Given the description of an element on the screen output the (x, y) to click on. 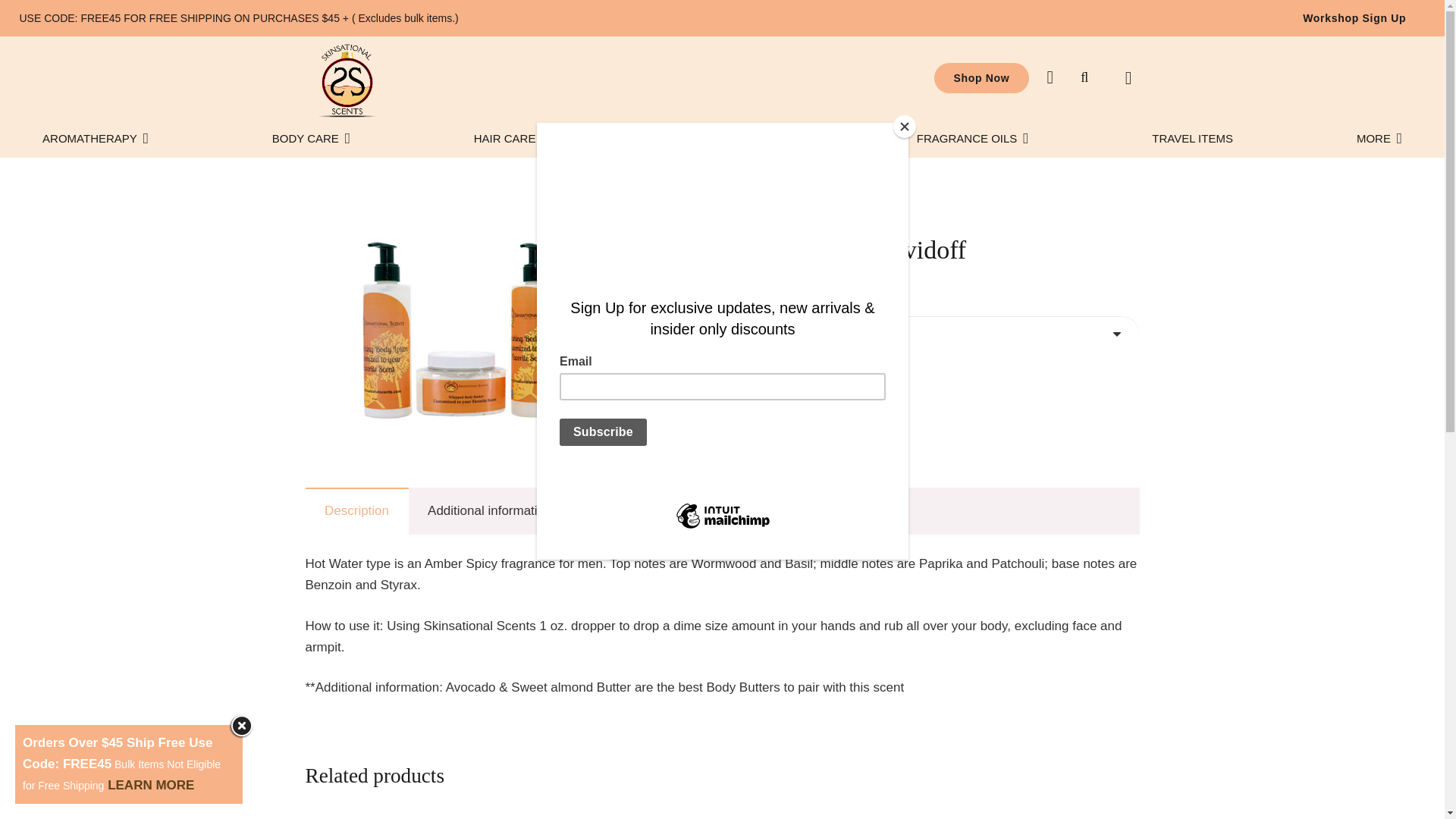
BODY CARE (310, 138)
Custom Skin Care (462, 328)
Workshop Sign Up (1354, 17)
Shop Now (980, 77)
1 (705, 385)
TRAVEL ITEMS (1192, 138)
TARGETED SKINCARE (726, 138)
FRAGRANCE OILS (972, 138)
HAIR CARE (504, 138)
AROMATHERAPY (95, 138)
